Given the description of an element on the screen output the (x, y) to click on. 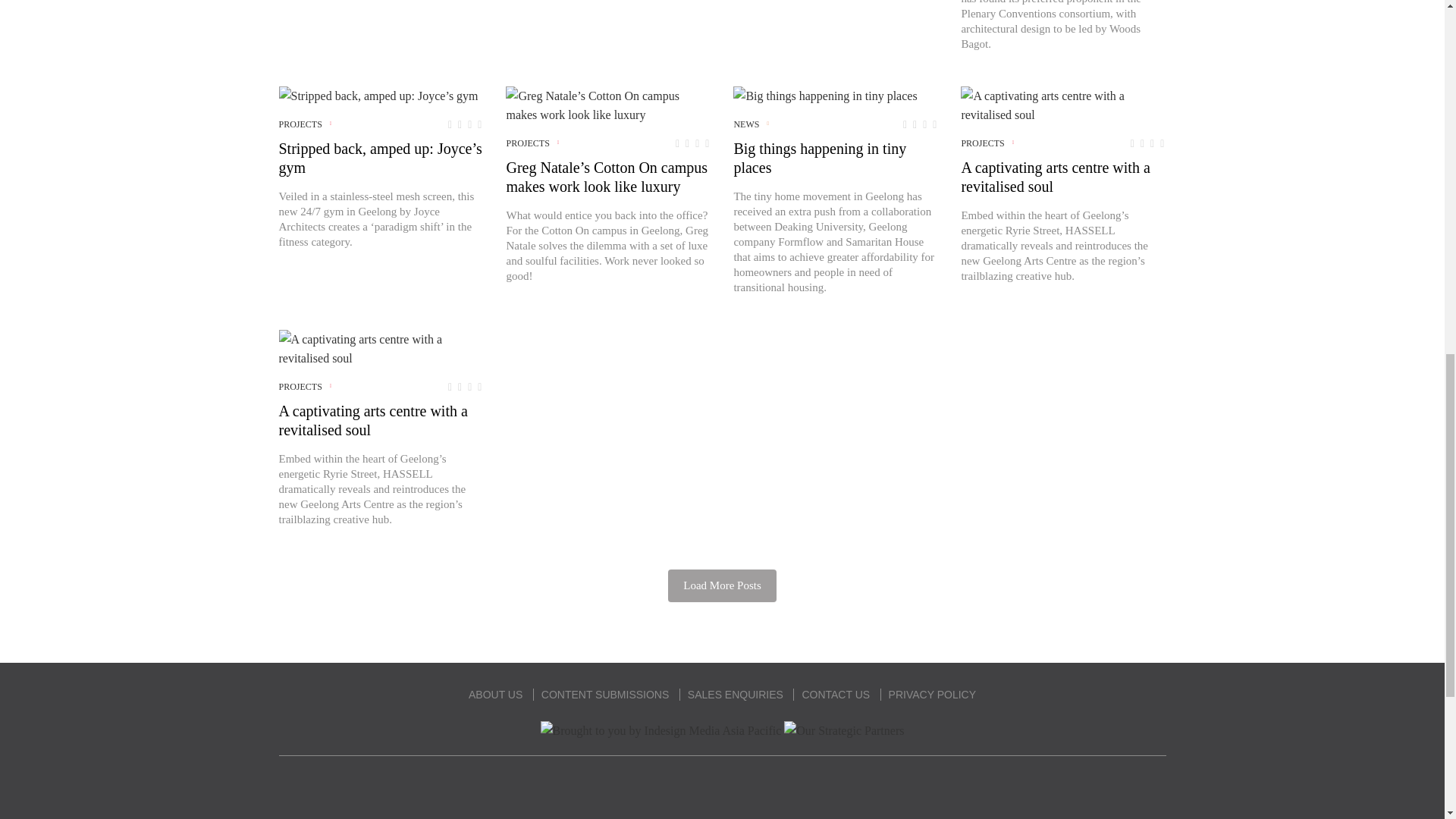
A captivating arts centre with a revitalised soul (1063, 105)
Big things happening in tiny places (825, 95)
A captivating arts centre with a revitalised soul (381, 348)
Our Strategic Partners (844, 730)
Brought to you by Indesign Media Asia Pacific (660, 730)
